Given the description of an element on the screen output the (x, y) to click on. 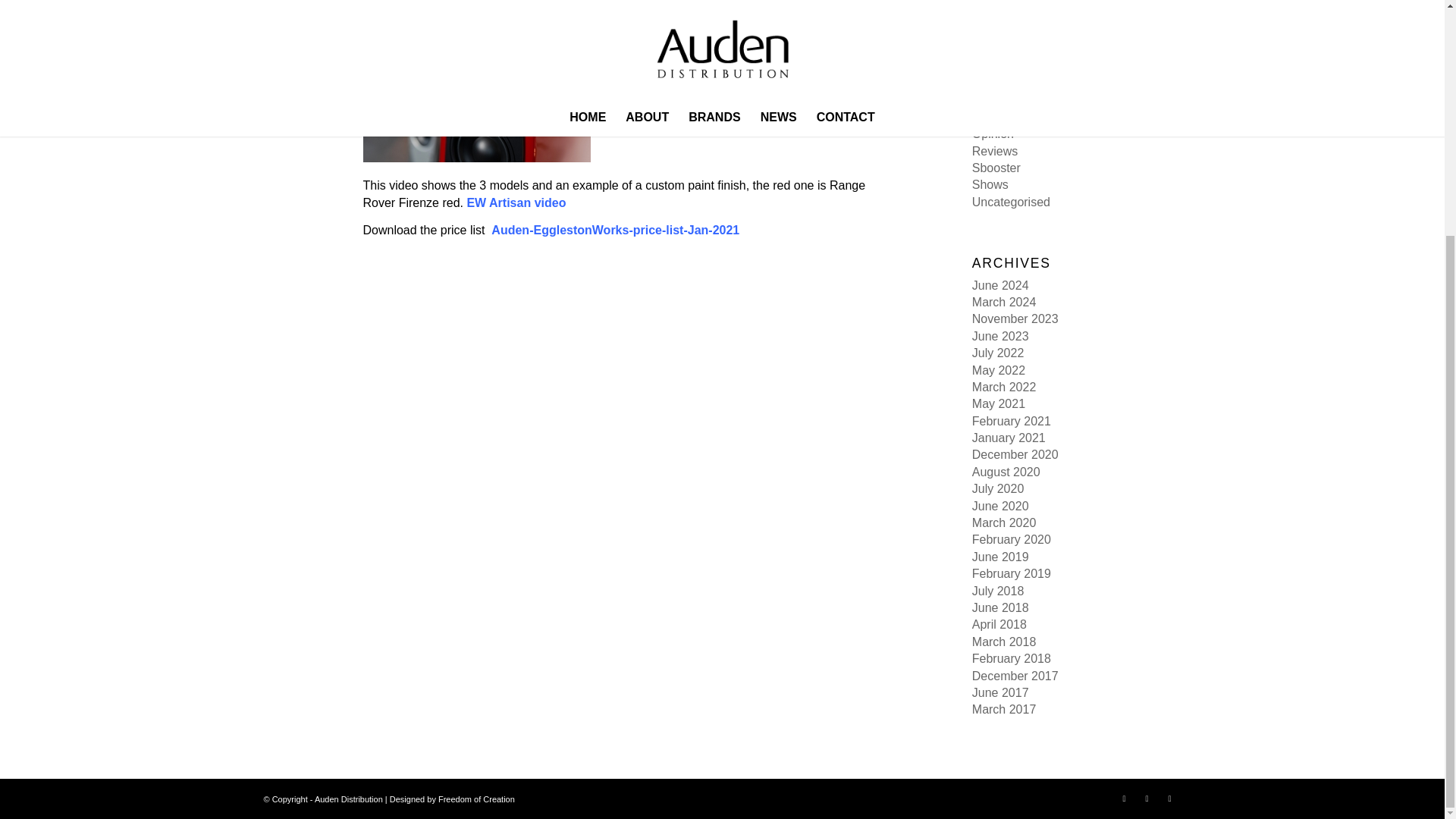
Hegel (988, 65)
Reviews (994, 151)
June 2024 (1000, 285)
Uncategorised (1010, 201)
Music Works (1006, 116)
CAAS Audio (1005, 15)
Opinion (992, 133)
Twitter (1146, 798)
November 2023 (1015, 318)
Luphonic (997, 82)
